Given the description of an element on the screen output the (x, y) to click on. 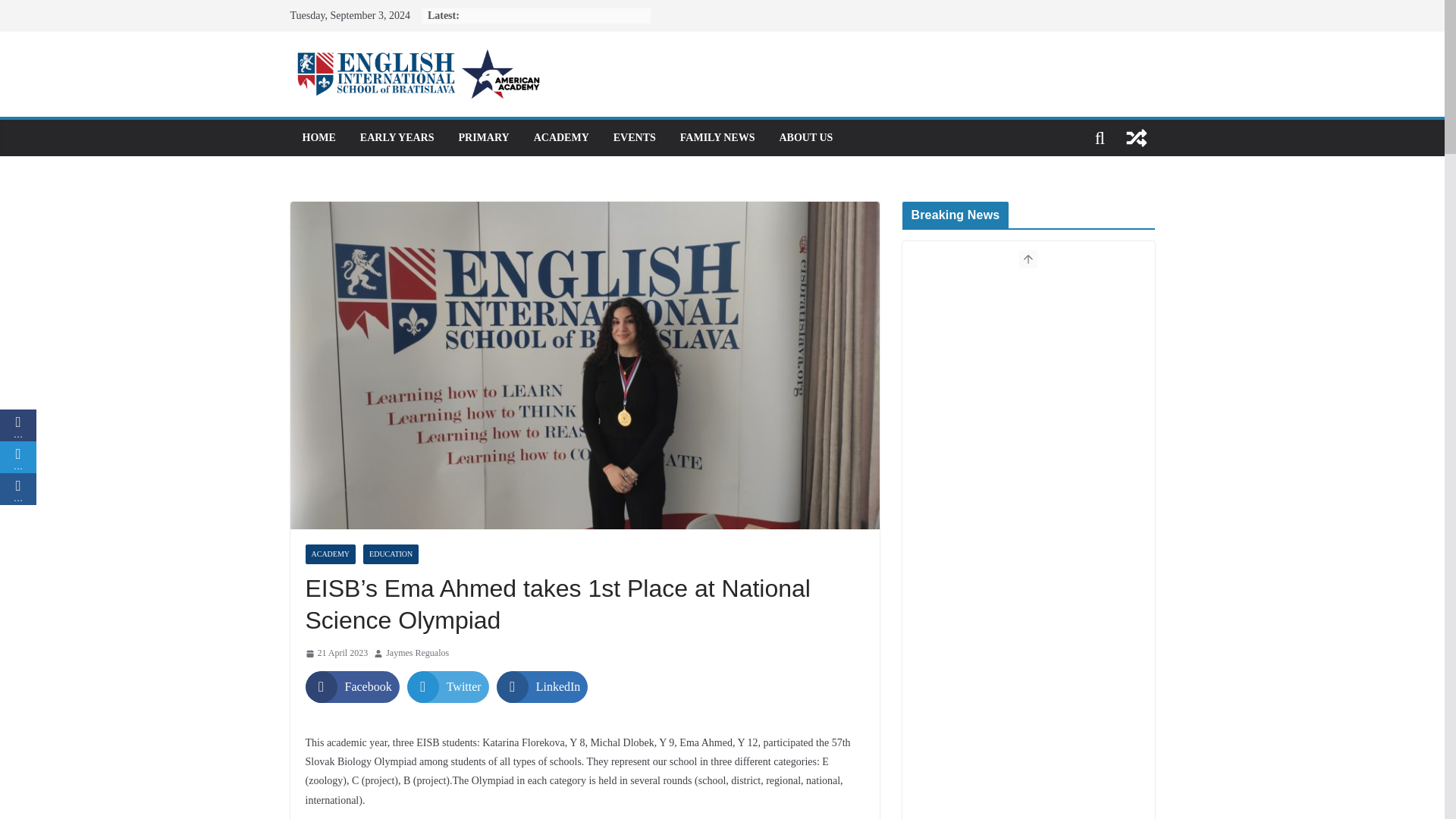
21 April 2023 (336, 653)
View a random post (1136, 137)
ACADEMY (561, 137)
Jaymes Regualos (416, 653)
Jaymes Regualos (416, 653)
LinkedIn (542, 686)
15:20 (336, 653)
Twitter (448, 686)
EDUCATION (390, 554)
Facebook (351, 686)
